Given the description of an element on the screen output the (x, y) to click on. 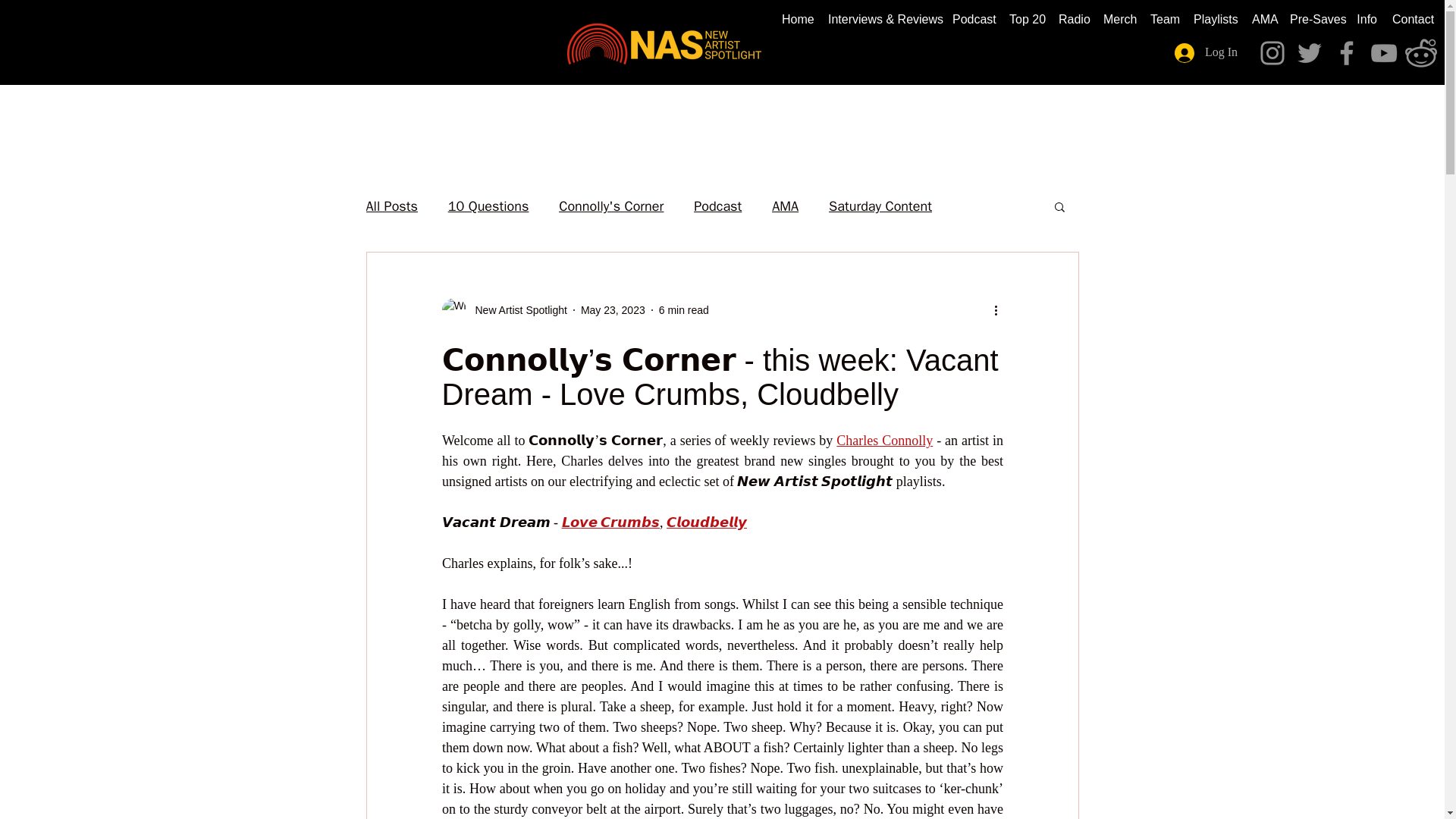
Contact (1412, 19)
New Artist Spotlight (515, 309)
AMA (1263, 19)
Log In (1205, 51)
Radio (1073, 19)
Top 20 (1026, 19)
Saturday Content (879, 206)
Info (1366, 19)
Charles Connolly (884, 440)
Pre-Saves (1315, 19)
Team (1164, 19)
All Posts (390, 206)
10 Questions (488, 206)
New Artist Spotlight (503, 310)
6 min read (684, 309)
